Given the description of an element on the screen output the (x, y) to click on. 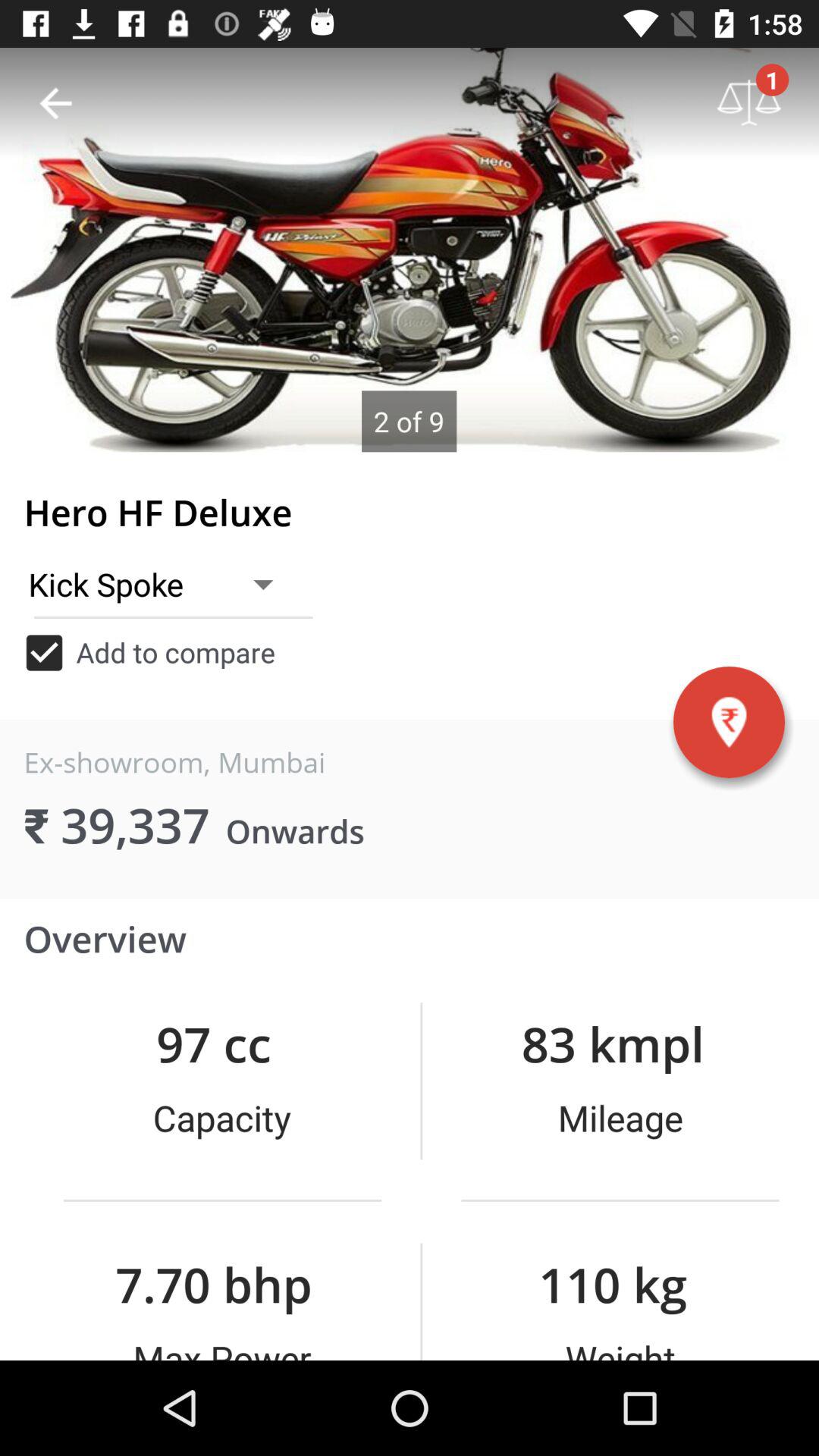
enlarge picture (409, 249)
